Given the description of an element on the screen output the (x, y) to click on. 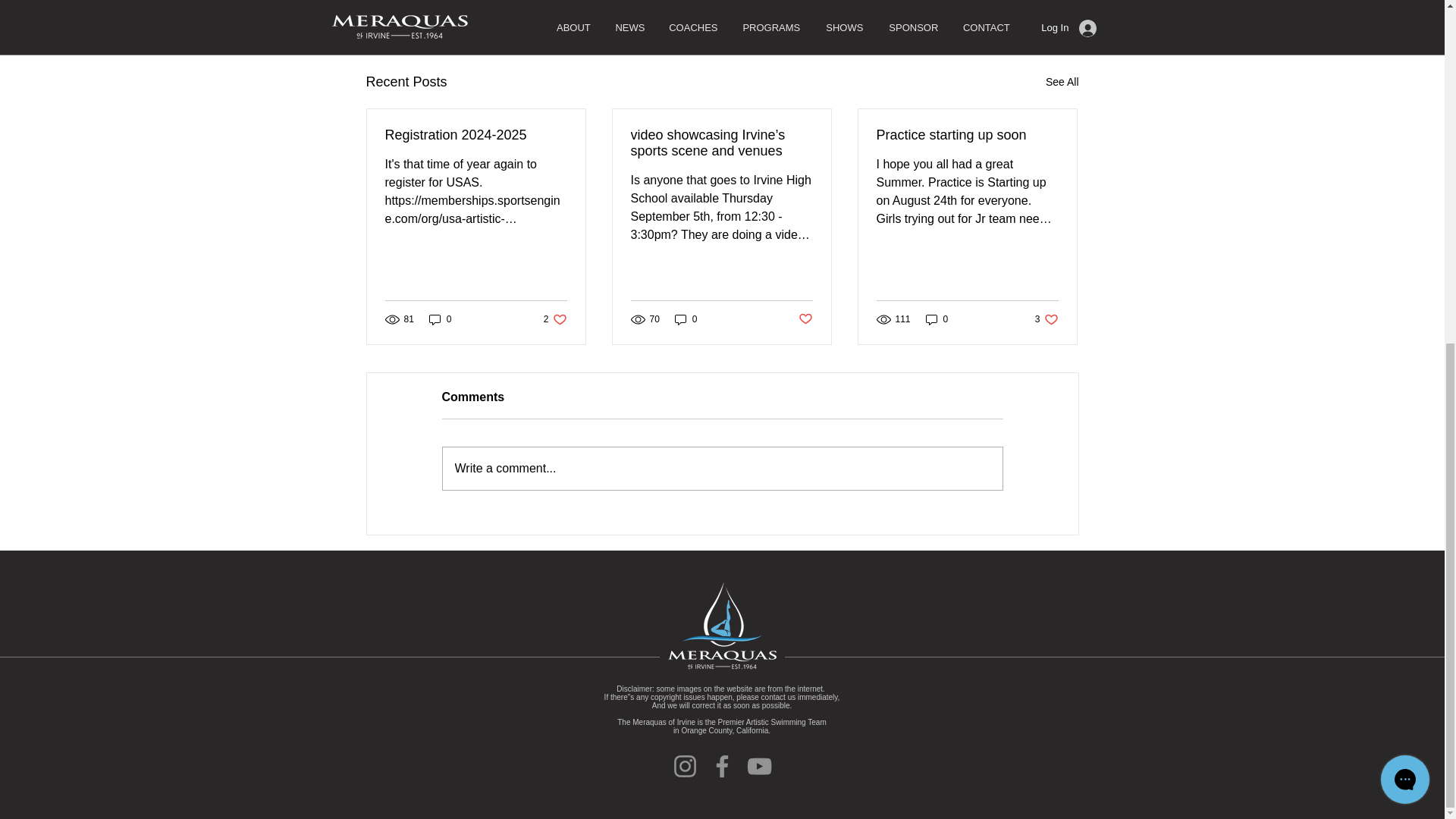
Write a comment... (722, 468)
Practice starting up soon (967, 135)
See All (1061, 82)
Registration 2024-2025 (476, 135)
0 (937, 319)
Post not marked as liked (1046, 319)
0 (990, 3)
